Given the description of an element on the screen output the (x, y) to click on. 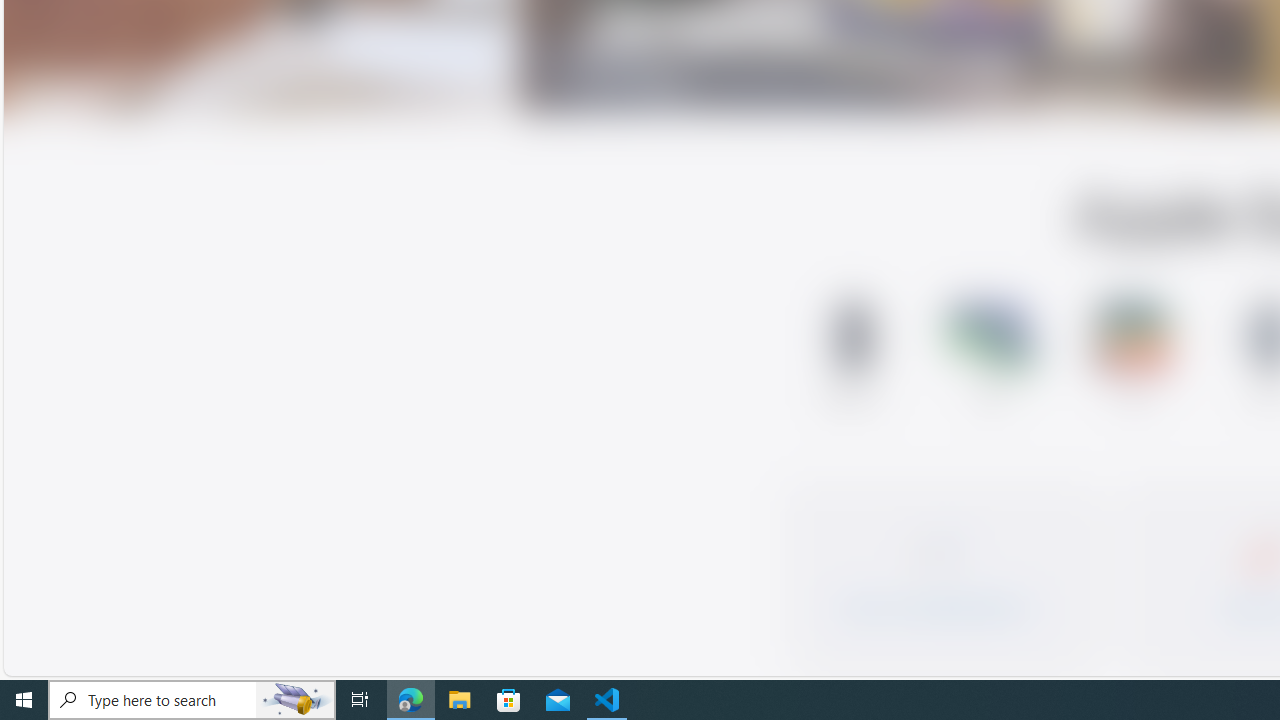
Forgot Apple ID password (938, 570)
iPhone Support (852, 358)
Mac Support (992, 358)
iPad Support (1131, 358)
